Given the description of an element on the screen output the (x, y) to click on. 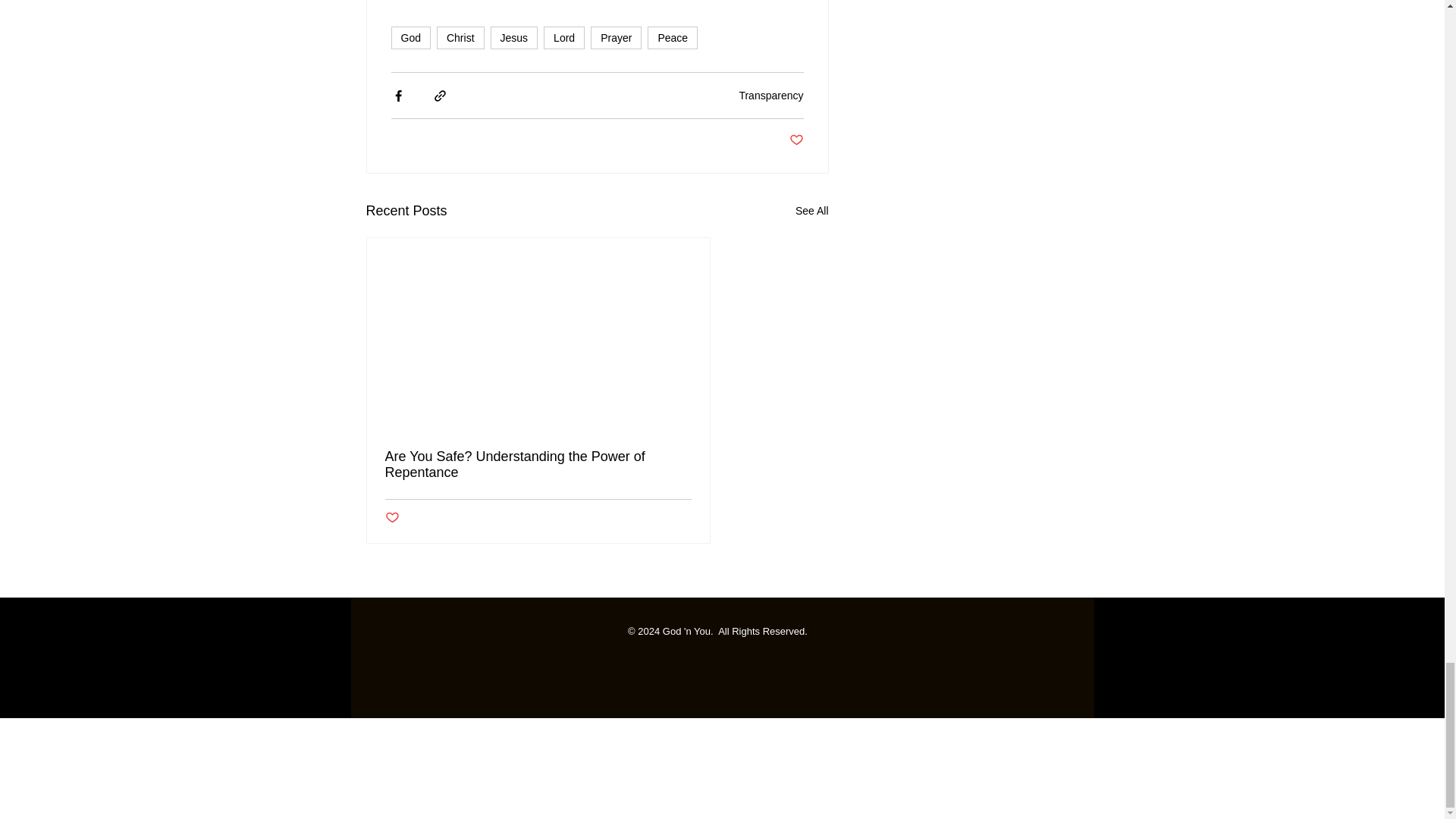
Transparency (770, 95)
Jesus (514, 37)
Christ (460, 37)
Post not marked as liked (796, 140)
God (410, 37)
See All (811, 210)
Post not marked as liked (391, 518)
Peace (672, 37)
Prayer (616, 37)
Are You Safe? Understanding the Power of Repentance (538, 464)
Lord (564, 37)
